Given the description of an element on the screen output the (x, y) to click on. 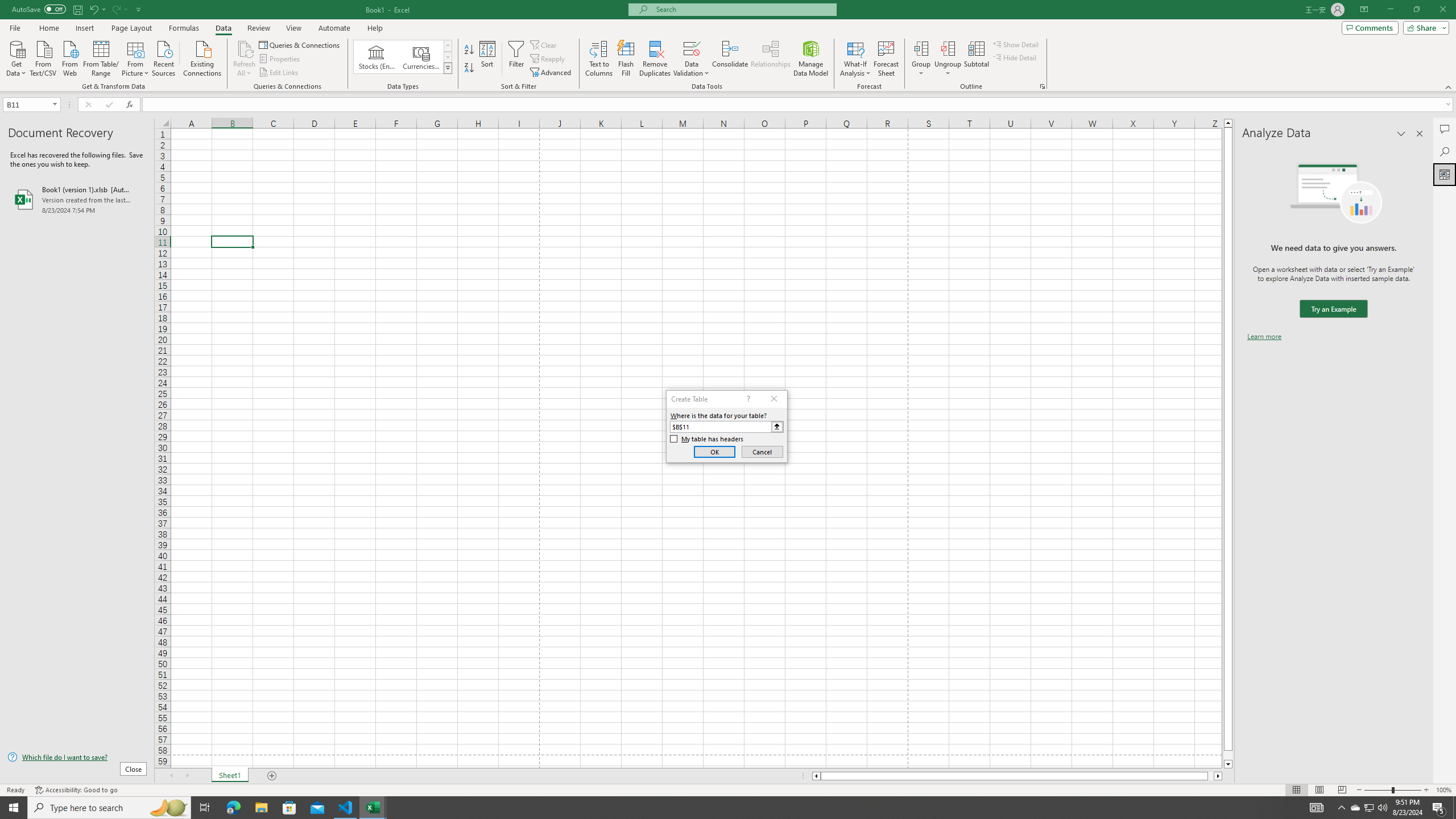
Line up (1228, 122)
Accessibility Checker Accessibility: Good to go (76, 790)
Analyze Data (1444, 173)
More Options (947, 68)
Page Layout (1318, 790)
Queries & Connections (300, 44)
Automate (334, 28)
Refresh All (244, 58)
Save (77, 9)
System (6, 6)
Collapse the Ribbon (1448, 86)
Advanced... (551, 72)
Page right (1211, 775)
Data Validation... (691, 58)
